Given the description of an element on the screen output the (x, y) to click on. 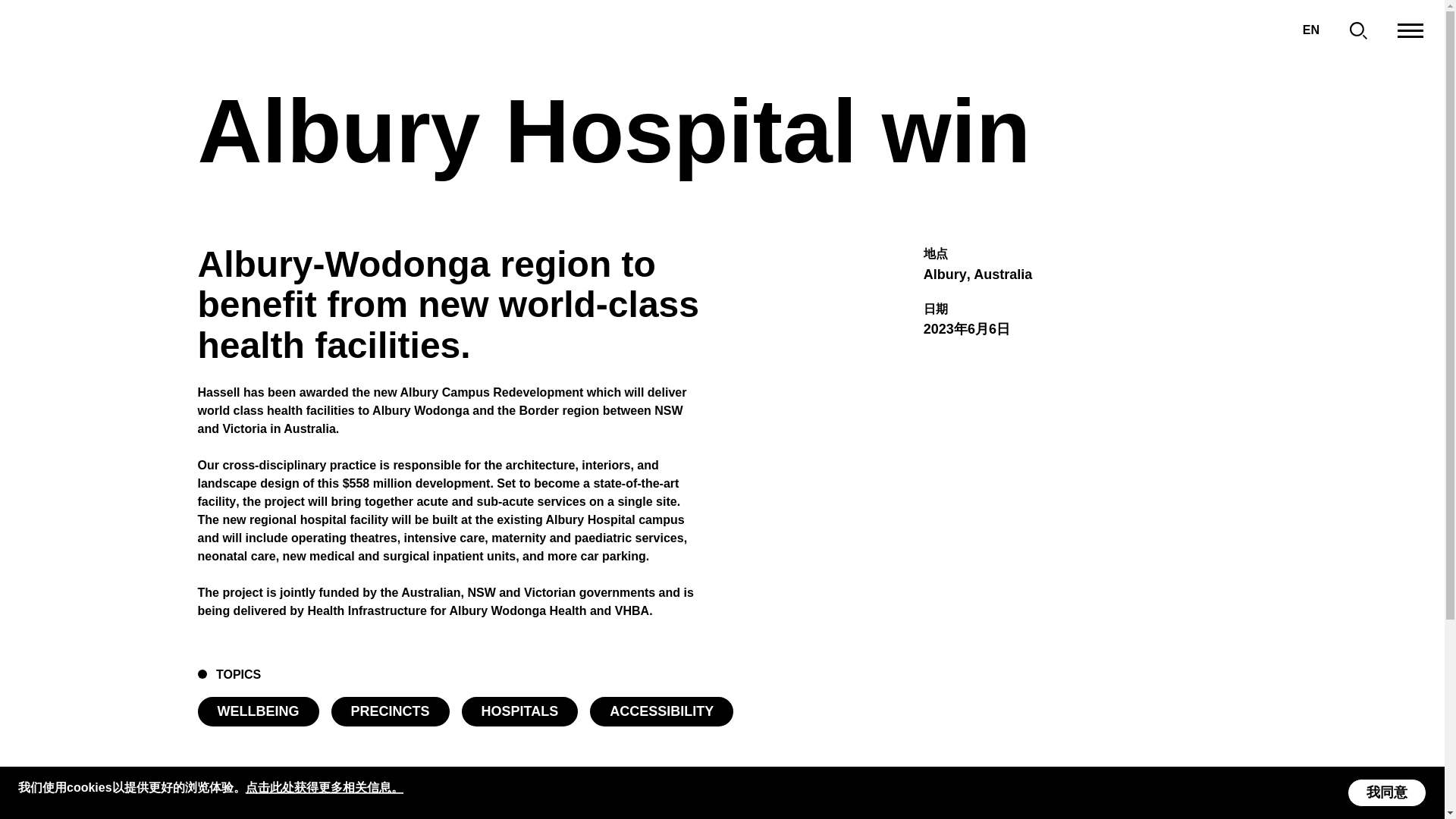
WELLBEING (257, 711)
PRECINCTS (389, 711)
ACCESSIBILITY (661, 711)
HOSPITALS (519, 711)
